Given the description of an element on the screen output the (x, y) to click on. 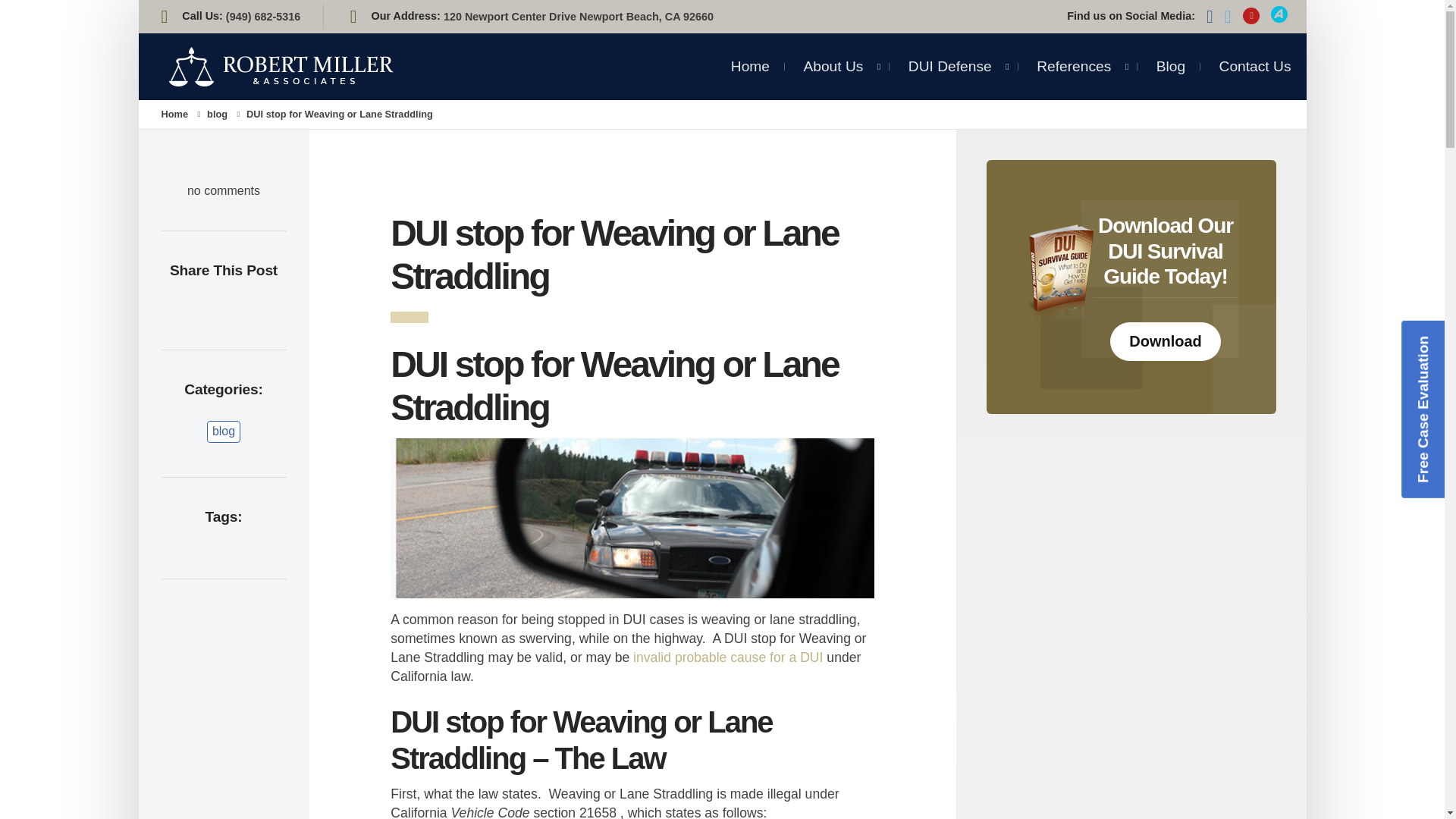
Home (750, 60)
About Us (833, 61)
120 Newport Center Drive Newport Beach, CA 92660 (578, 17)
DUI Defense (949, 66)
View all posts in blog (216, 114)
